Given the description of an element on the screen output the (x, y) to click on. 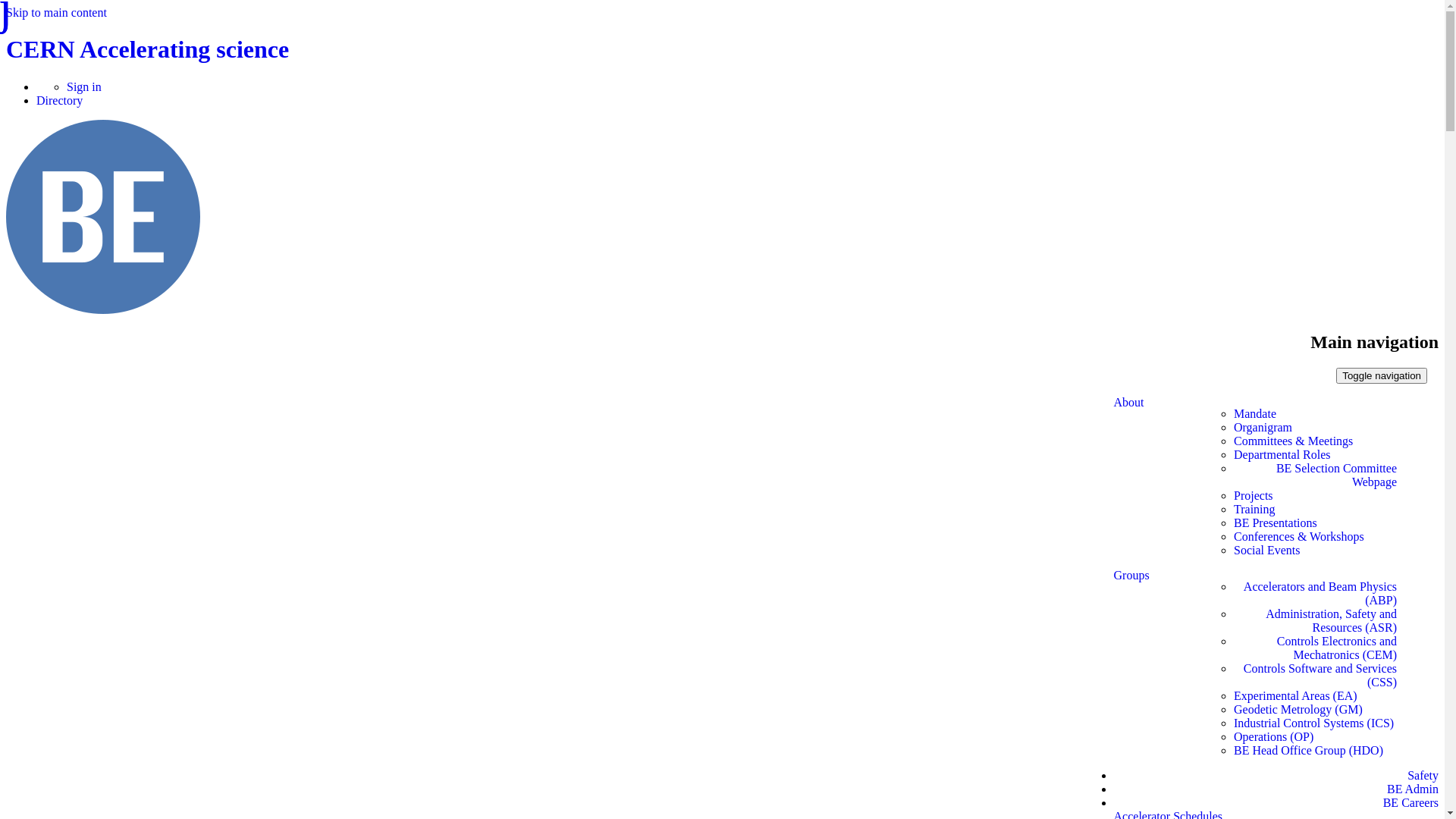
Controls Electronics and Mechatronics (CEM) Element type: text (1314, 648)
Projects Element type: text (1253, 495)
Accelerators and Beam Physics (ABP) Element type: text (1314, 593)
Social Events Element type: text (1266, 550)
BE Presentations Element type: text (1275, 523)
About Element type: text (1128, 481)
Skip to main content Element type: text (56, 12)
Sign in Element type: text (83, 86)
Safety Element type: text (1422, 774)
CERN Accelerating science Element type: text (147, 48)
Departmental Roles Element type: text (1281, 454)
Geodetic Metrology (GM) Element type: text (1297, 709)
Directory Element type: text (59, 100)
Operations (OP) Element type: text (1273, 736)
Home Element type: hover (103, 309)
Committees & Meetings Element type: text (1292, 441)
Groups Element type: text (1131, 668)
Industrial Control Systems (ICS) Element type: text (1313, 723)
BE Careers Element type: text (1410, 802)
Organigram Element type: text (1262, 427)
Mandate Element type: text (1254, 413)
Conferences & Workshops Element type: text (1298, 536)
Training Element type: text (1254, 509)
BE Admin Element type: text (1412, 788)
Administration, Safety and Resources (ASR) Element type: text (1314, 620)
Controls Software and Services (CSS) Element type: text (1314, 675)
Experimental Areas (EA) Element type: text (1295, 695)
BE Selection Committee Webpage Element type: text (1314, 475)
Toggle navigation Element type: text (1381, 375)
BE Head Office Group (HDO) Element type: text (1308, 750)
